Given the description of an element on the screen output the (x, y) to click on. 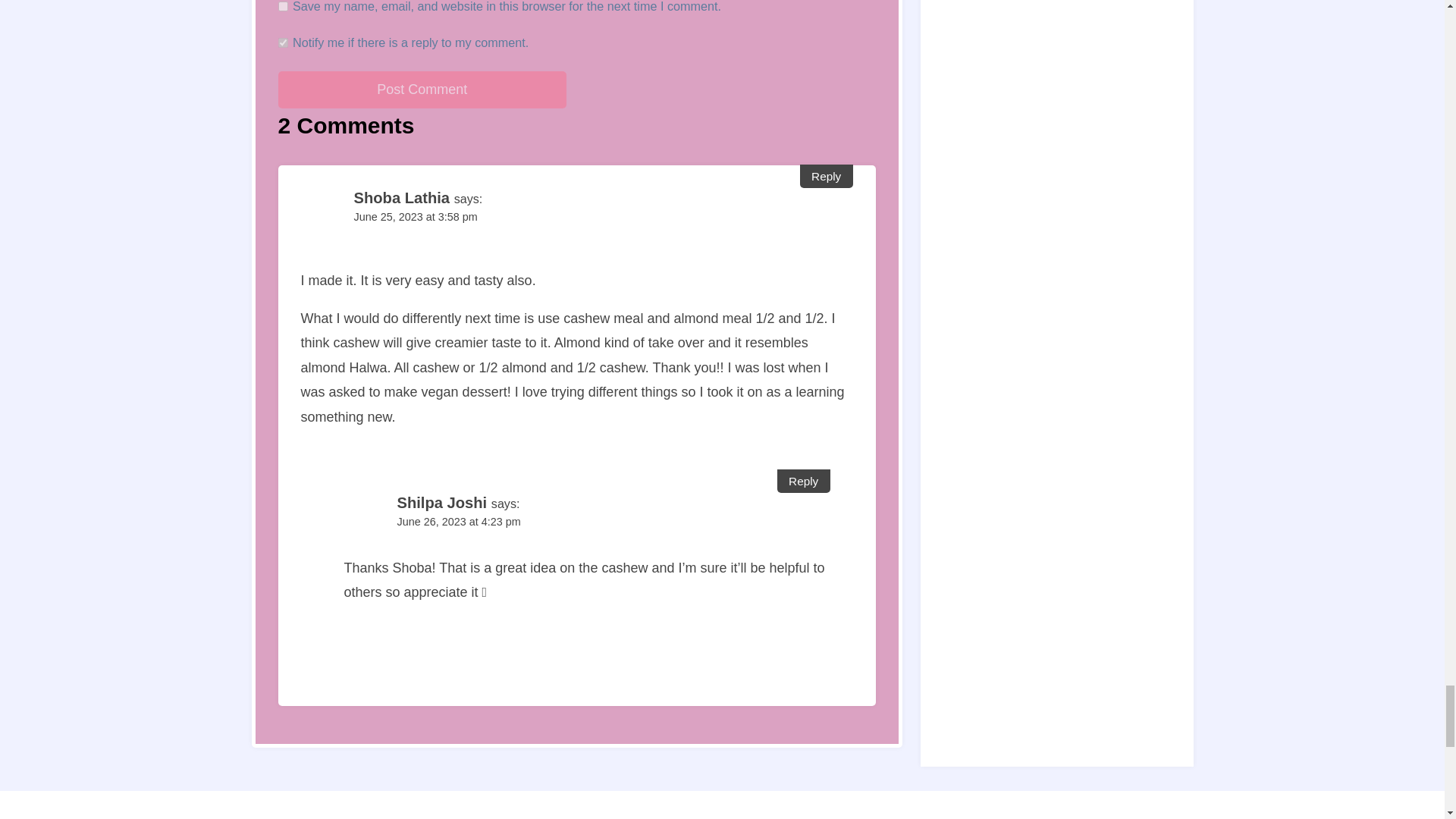
Post Comment (422, 89)
yes (282, 6)
on (282, 42)
